Given the description of an element on the screen output the (x, y) to click on. 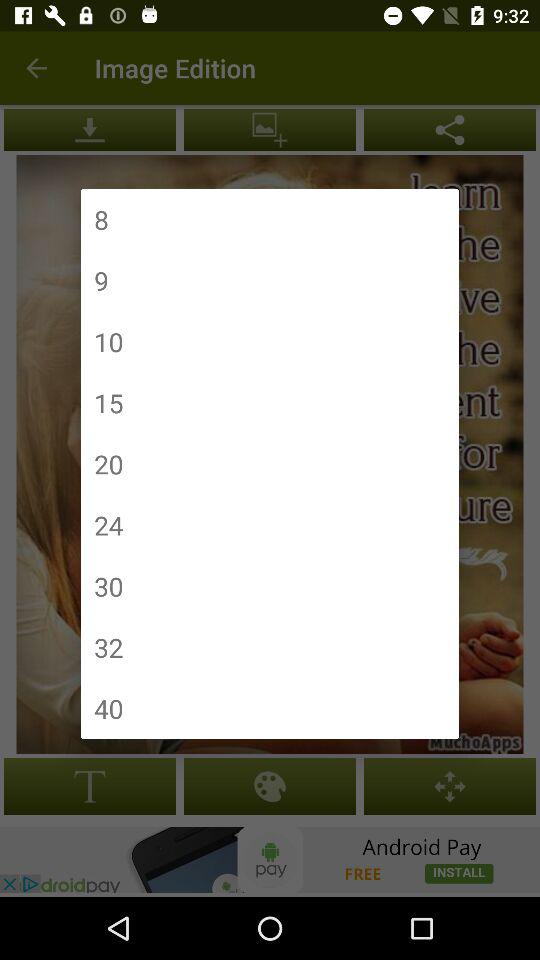
select 32 icon (108, 647)
